Given the description of an element on the screen output the (x, y) to click on. 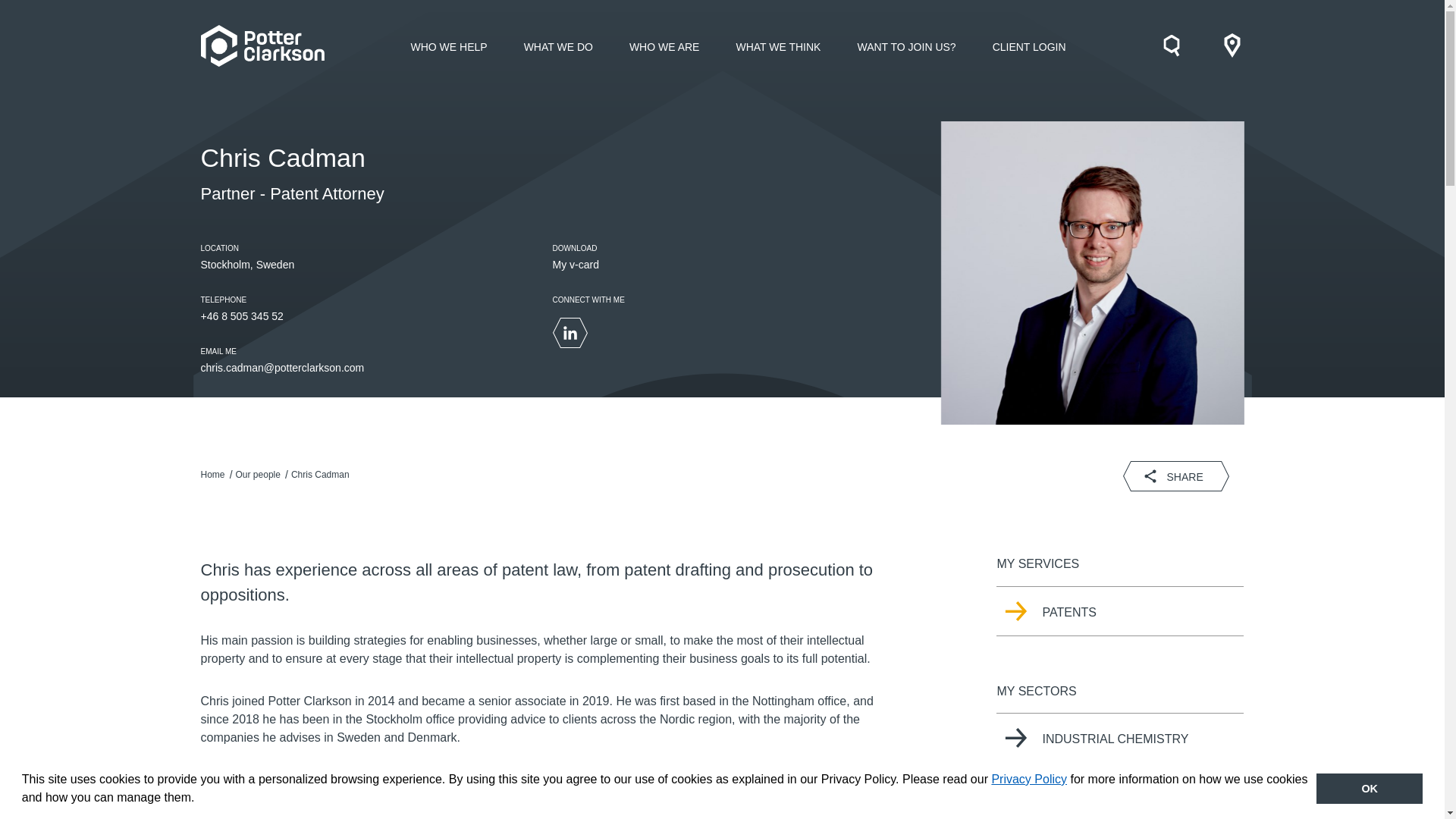
Menu (1231, 45)
WHO WE ARE (664, 44)
Share by email. Opens in new tab (1221, 476)
SEARCH (1170, 45)
WHAT WE DO (558, 44)
Follow me on LinkedIn. Opens in new tab (568, 332)
Opens in new tab (574, 264)
Share on LinkedIn. Opens in new tab (1180, 476)
Privacy Policy (1029, 779)
OK (1369, 788)
WHO WE HELP (448, 44)
Share on Twitter. Opens in new tab (1139, 476)
Privacy policy (1029, 779)
